Given the description of an element on the screen output the (x, y) to click on. 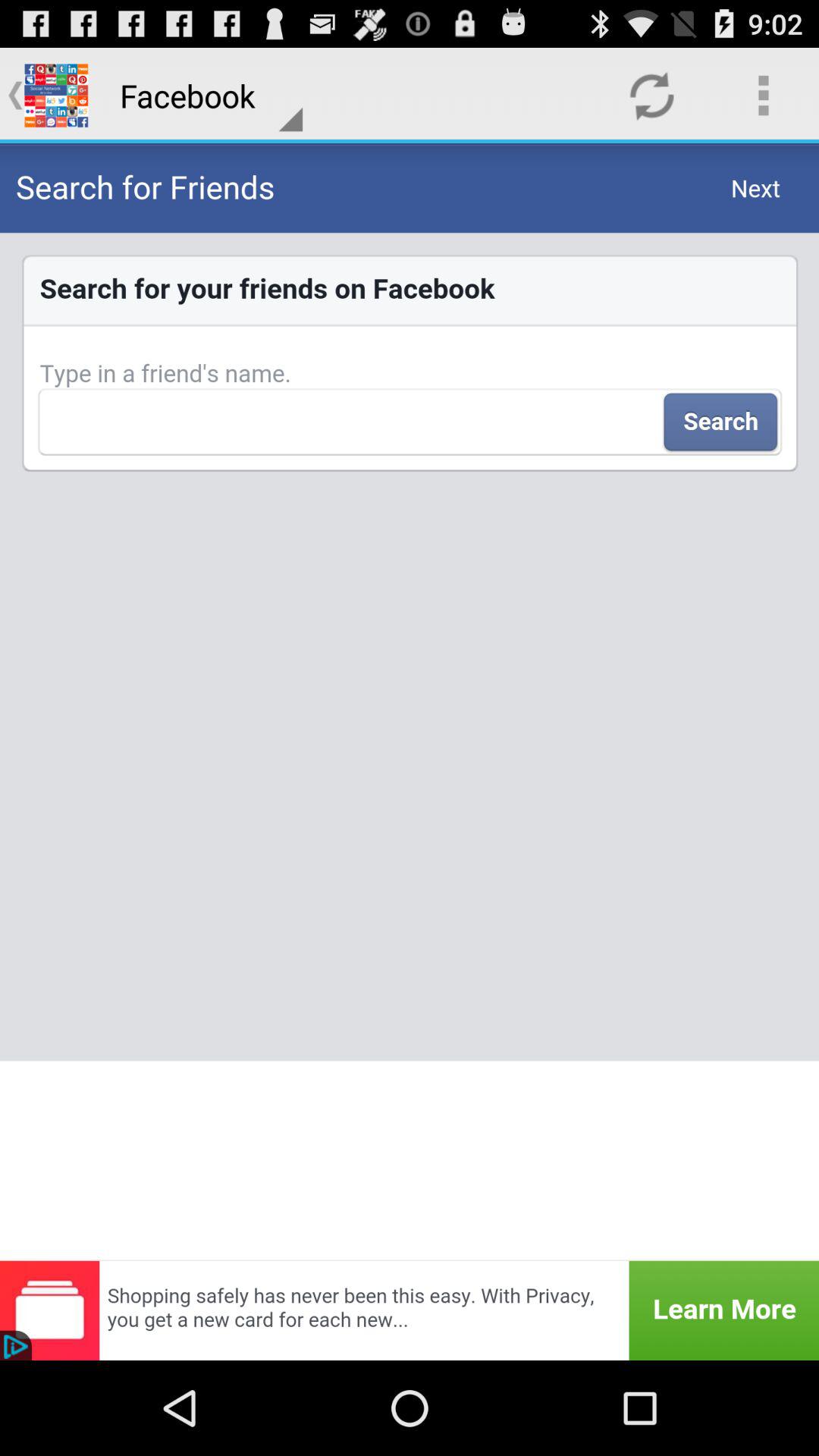
choose the app to the right of facebook item (651, 95)
